Given the description of an element on the screen output the (x, y) to click on. 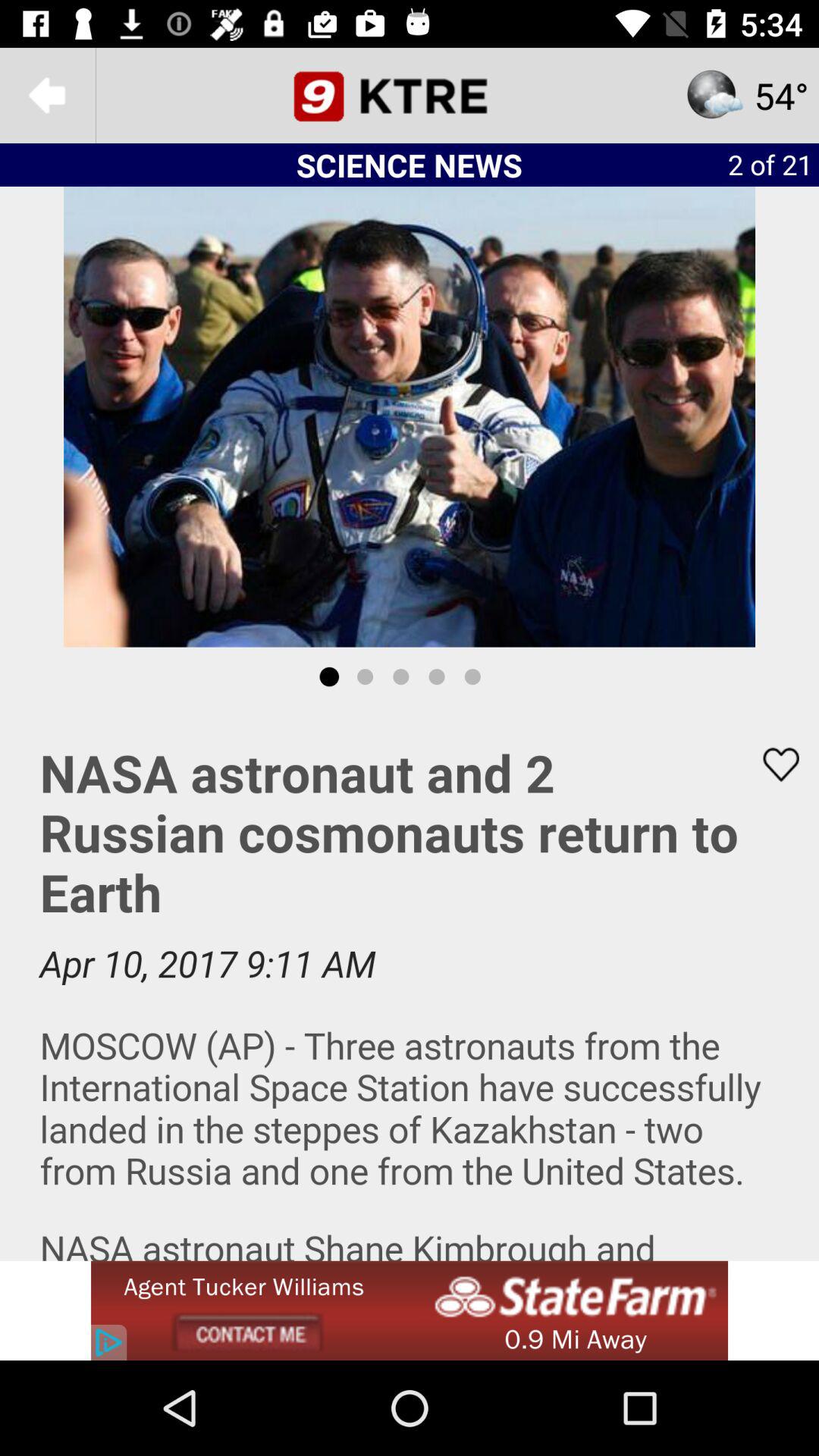
add the option (409, 1310)
